Given the description of an element on the screen output the (x, y) to click on. 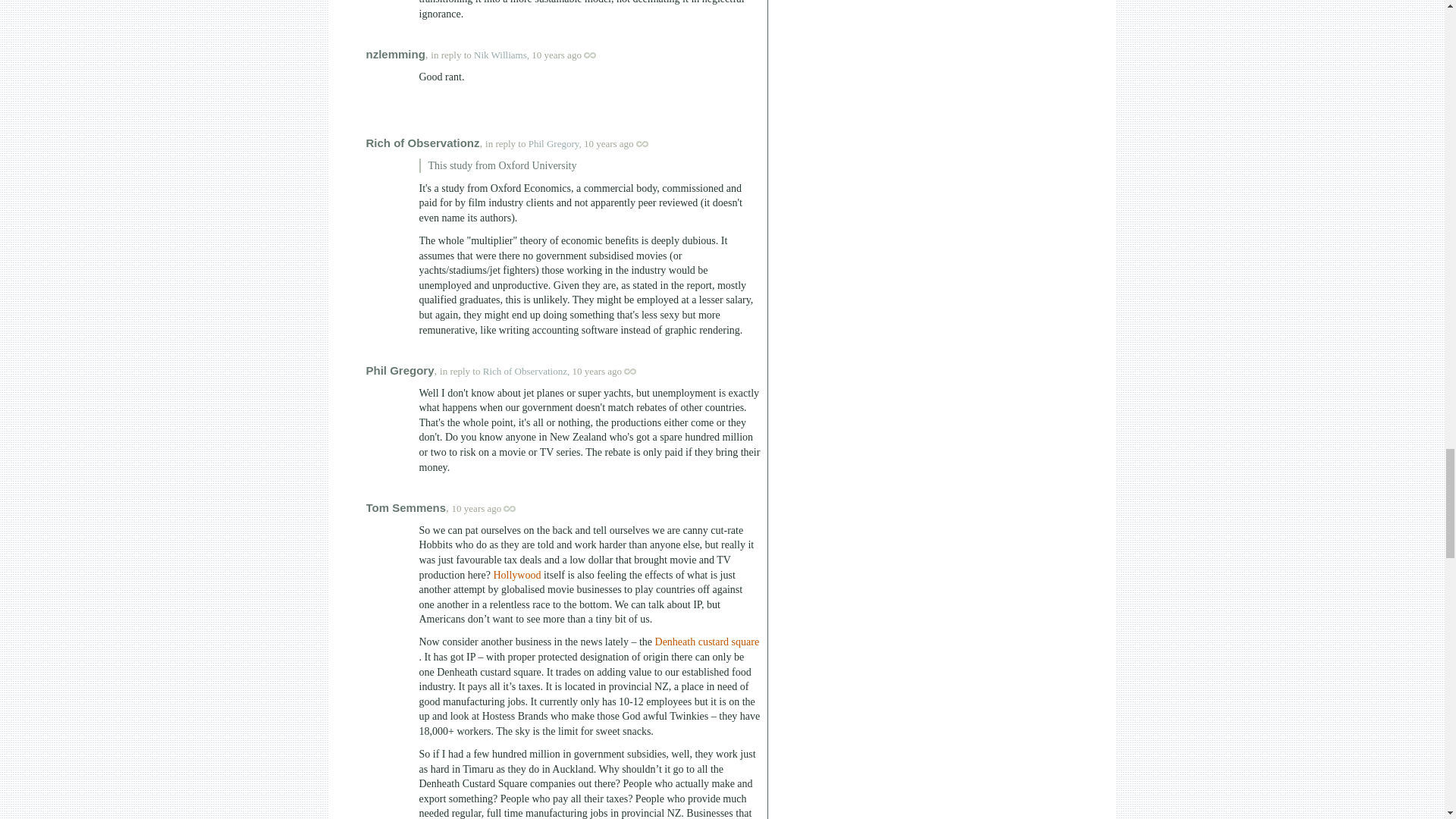
15:12 Oct 28, 2013 (476, 508)
13:26 Oct 28, 2013 (555, 54)
14:40 Oct 28, 2013 (608, 143)
15:08 Oct 28, 2013 (596, 370)
